Given the description of an element on the screen output the (x, y) to click on. 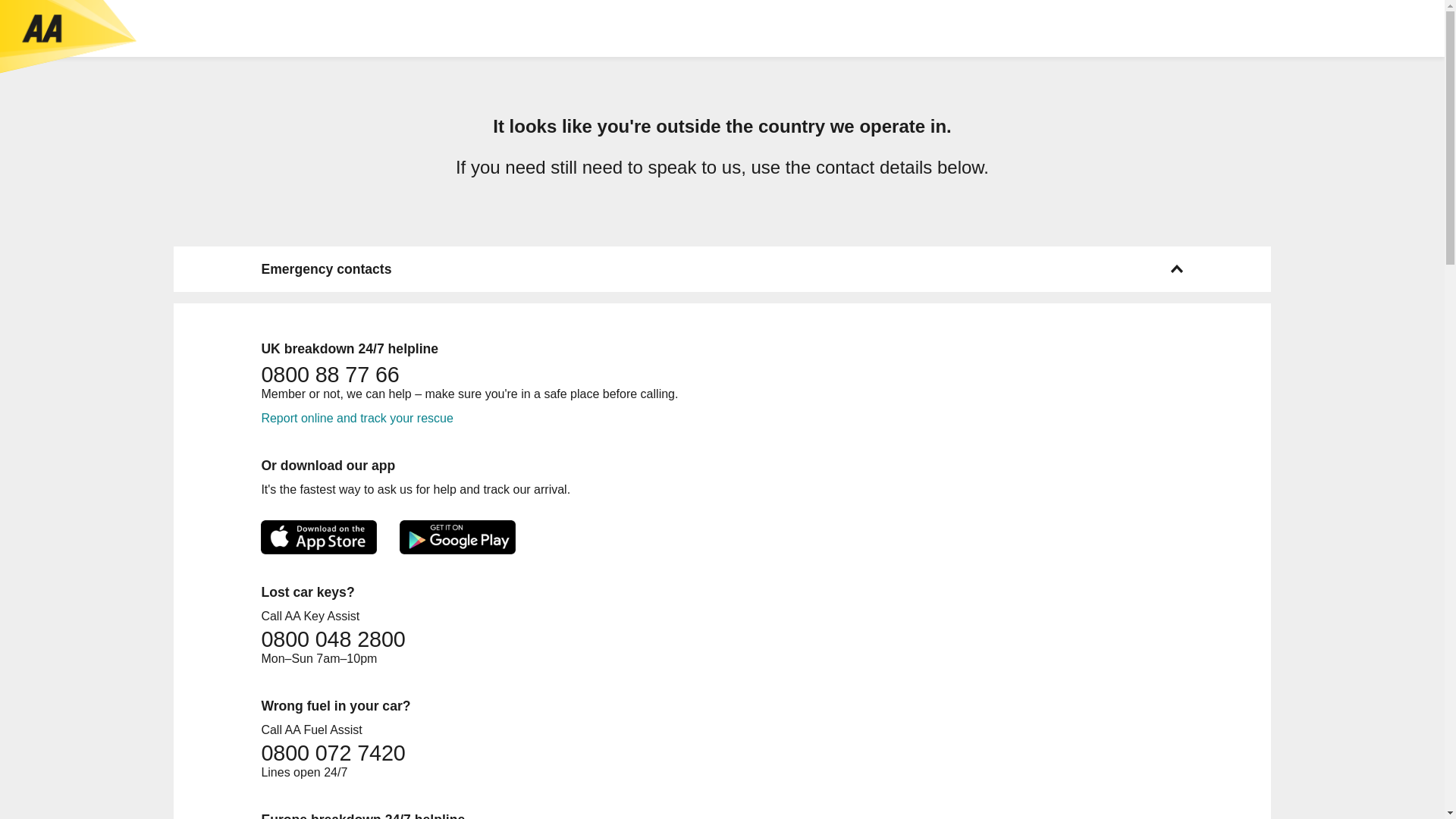
Report online and track your rescue (356, 418)
